Given the description of an element on the screen output the (x, y) to click on. 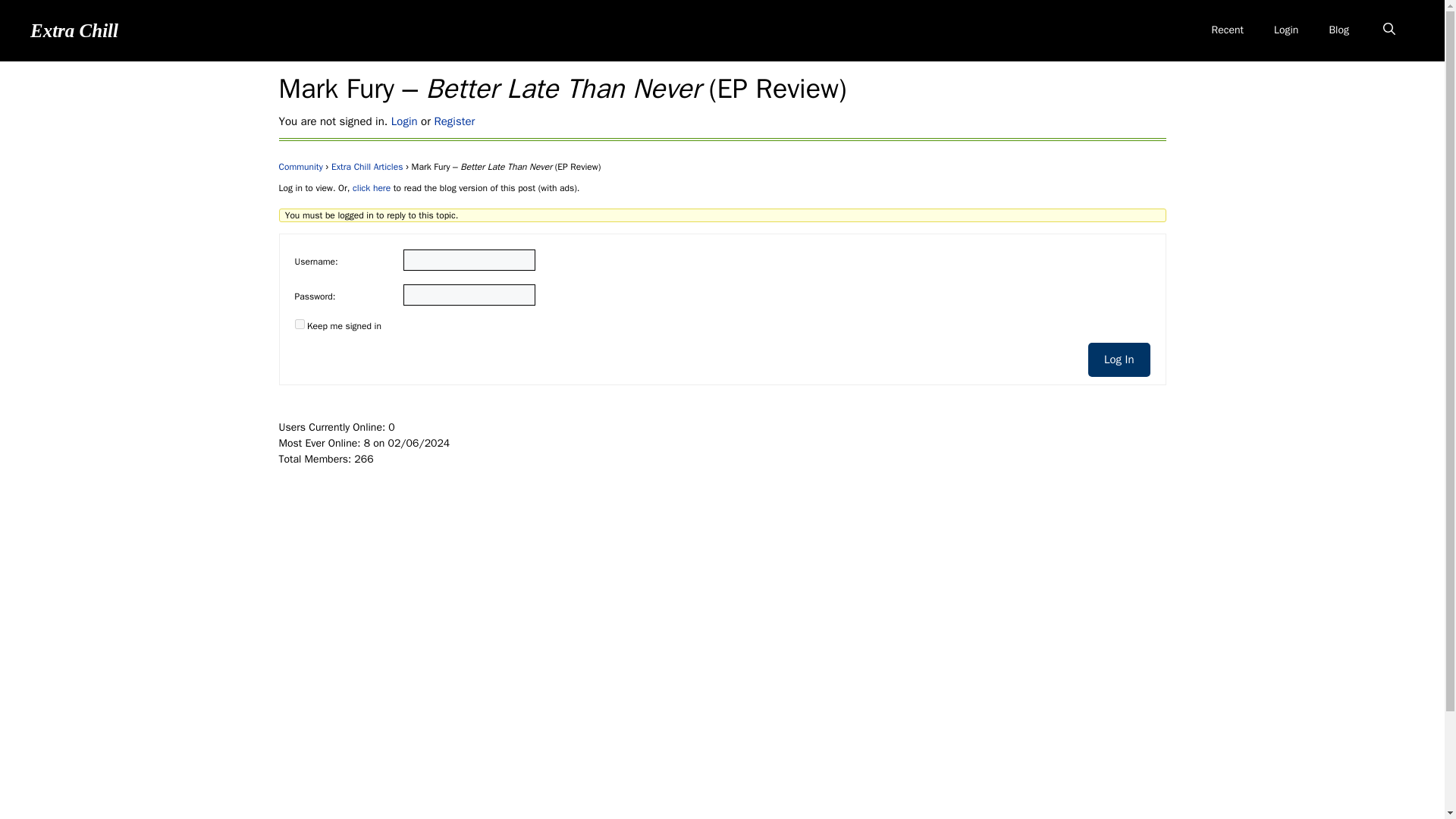
Community (301, 166)
Extra Chill (73, 29)
click here (371, 187)
Login (404, 120)
Log In (1118, 359)
forever (299, 324)
Register (453, 120)
Extra Chill Articles (367, 166)
